Given the description of an element on the screen output the (x, y) to click on. 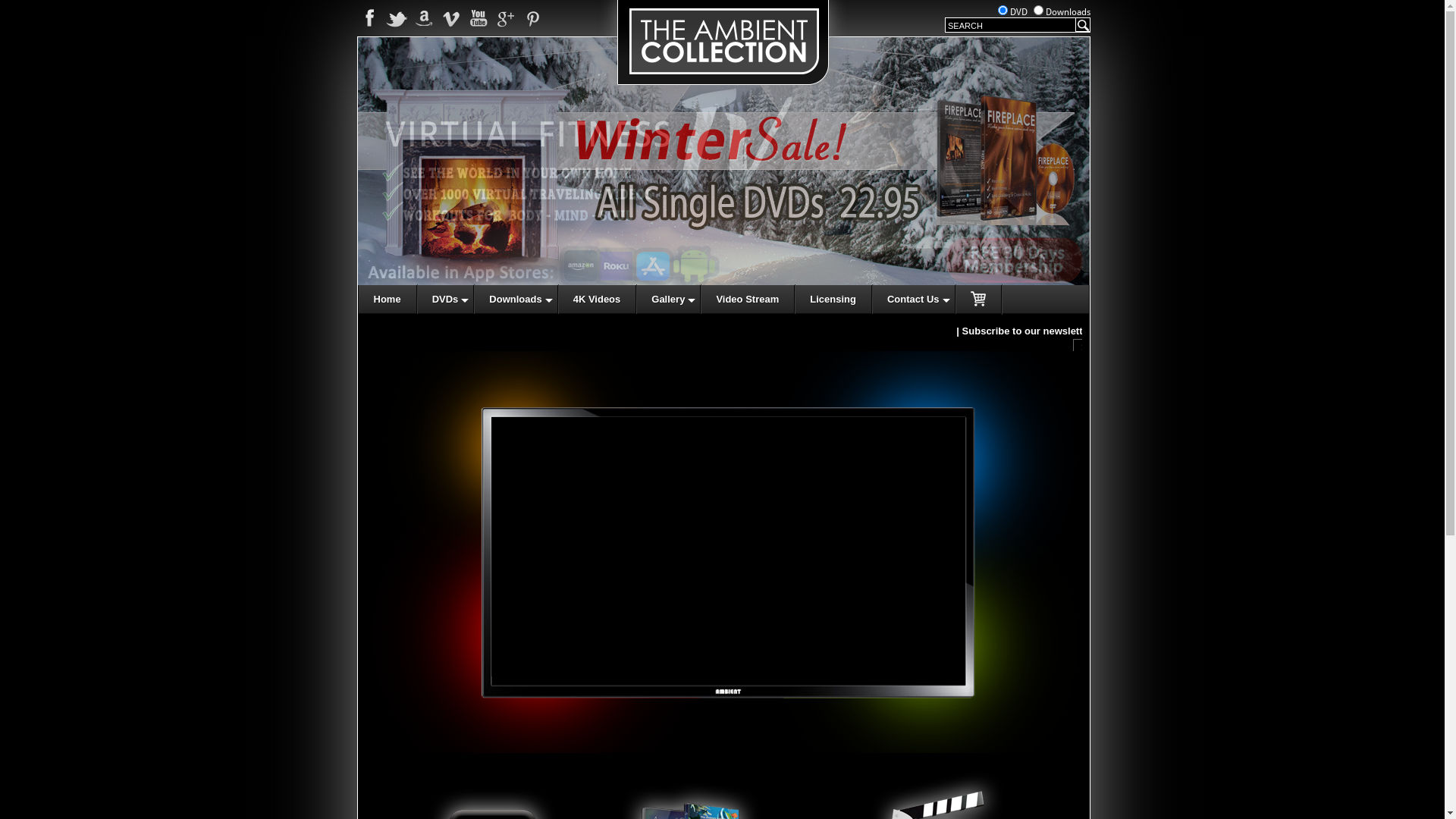
4K Videos Element type: text (597, 299)
Downloads Element type: text (515, 299)
DVDs Element type: text (445, 299)
Gallery Element type: text (668, 299)
Video Stream Element type: text (747, 299)
Home Element type: text (386, 299)
Licensing Element type: text (833, 299)
Subscribe Element type: text (1100, 346)
Home Element type: hover (722, 100)
Contact Us Element type: text (913, 299)
